Given the description of an element on the screen output the (x, y) to click on. 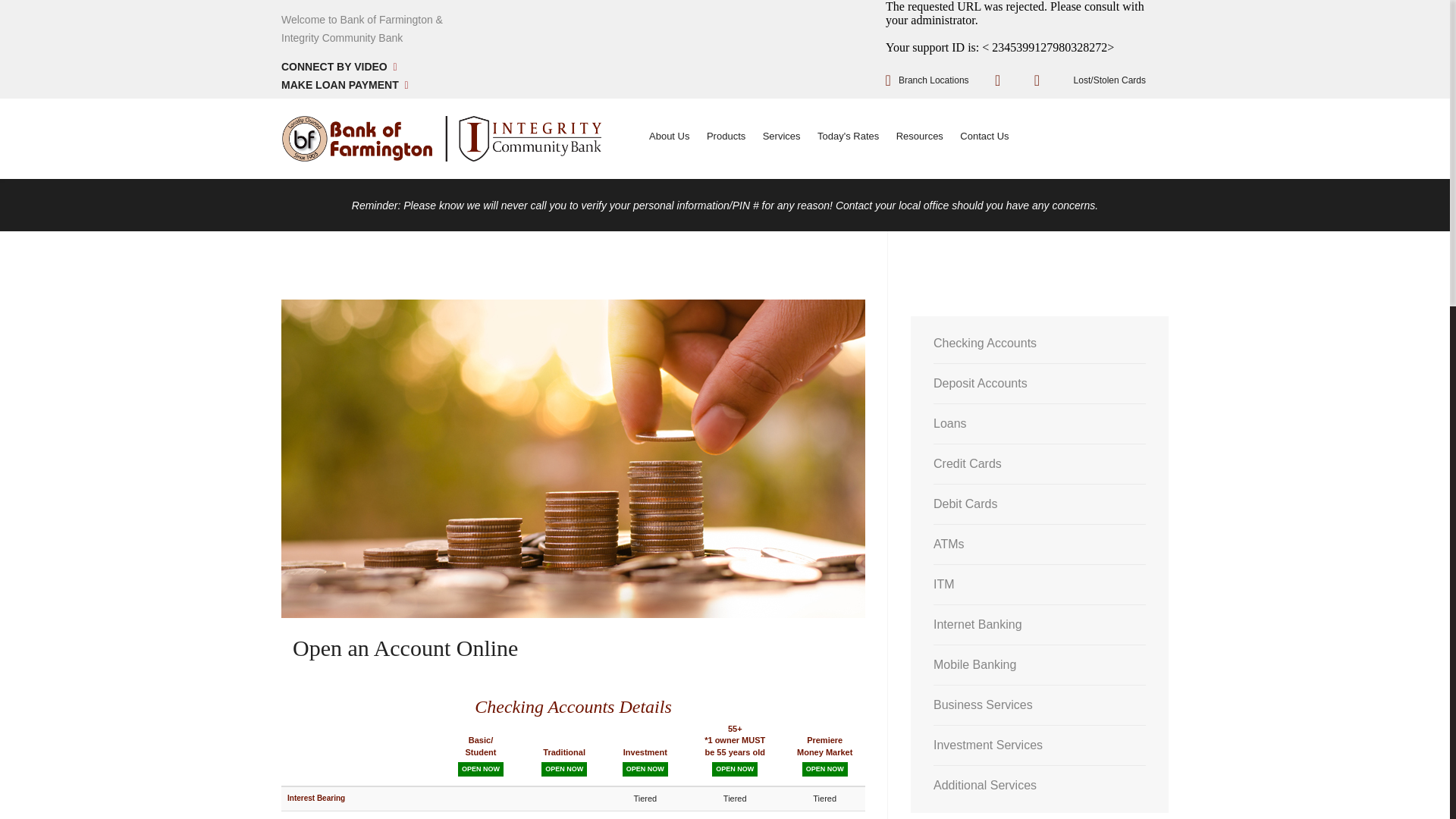
Today'S Rates (854, 134)
MAKE LOAN PAYMENT  (345, 85)
CONNECT BY VIDEO  (339, 66)
Branch Locations (933, 79)
